Given the description of an element on the screen output the (x, y) to click on. 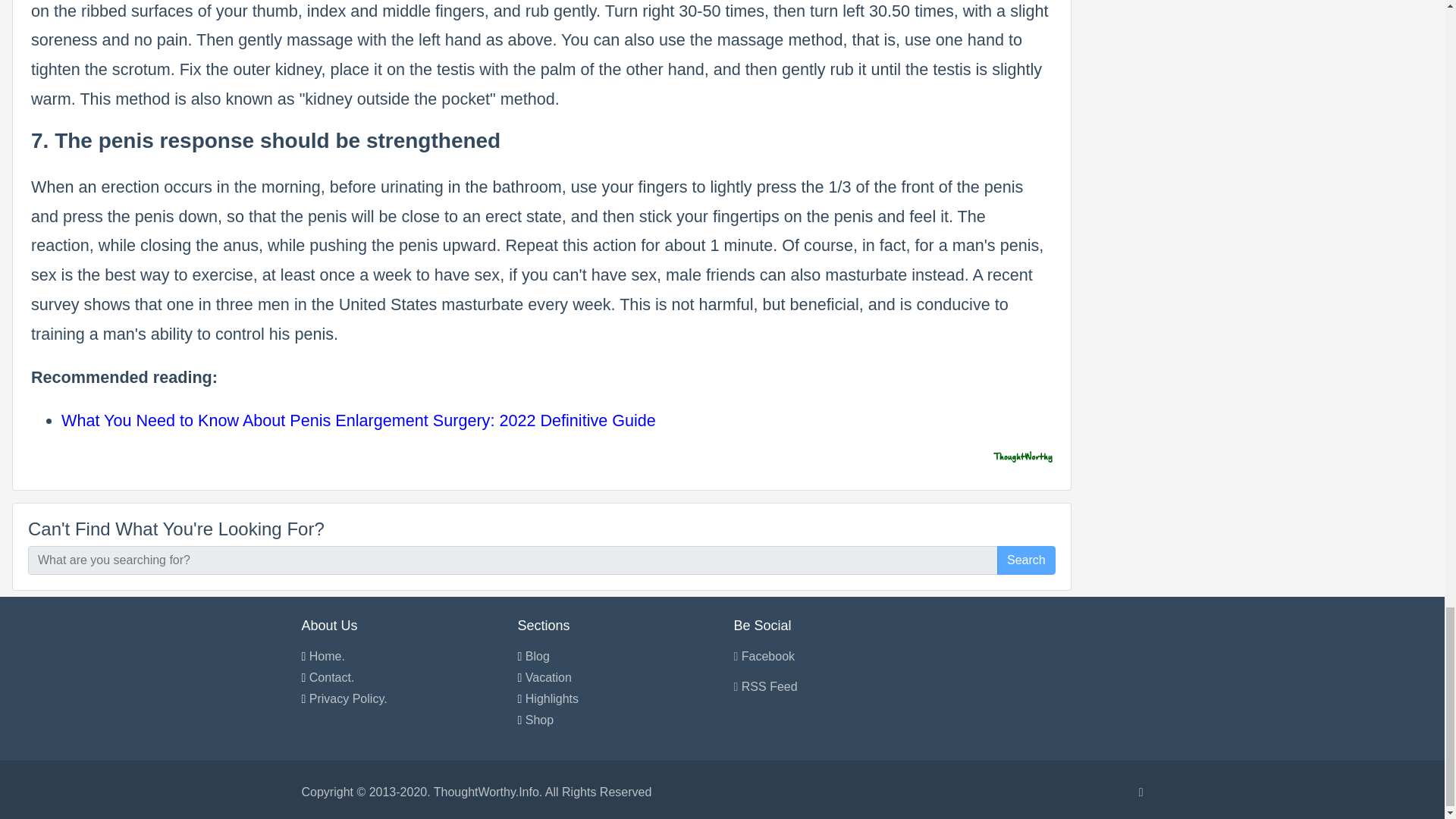
Home. (326, 656)
Contact. (331, 676)
Shop (539, 719)
Highlights (551, 698)
Search (1026, 560)
Vacation (548, 676)
 Facebook (763, 656)
Privacy Policy. (347, 698)
Search (1026, 560)
Blog (537, 656)
